Given the description of an element on the screen output the (x, y) to click on. 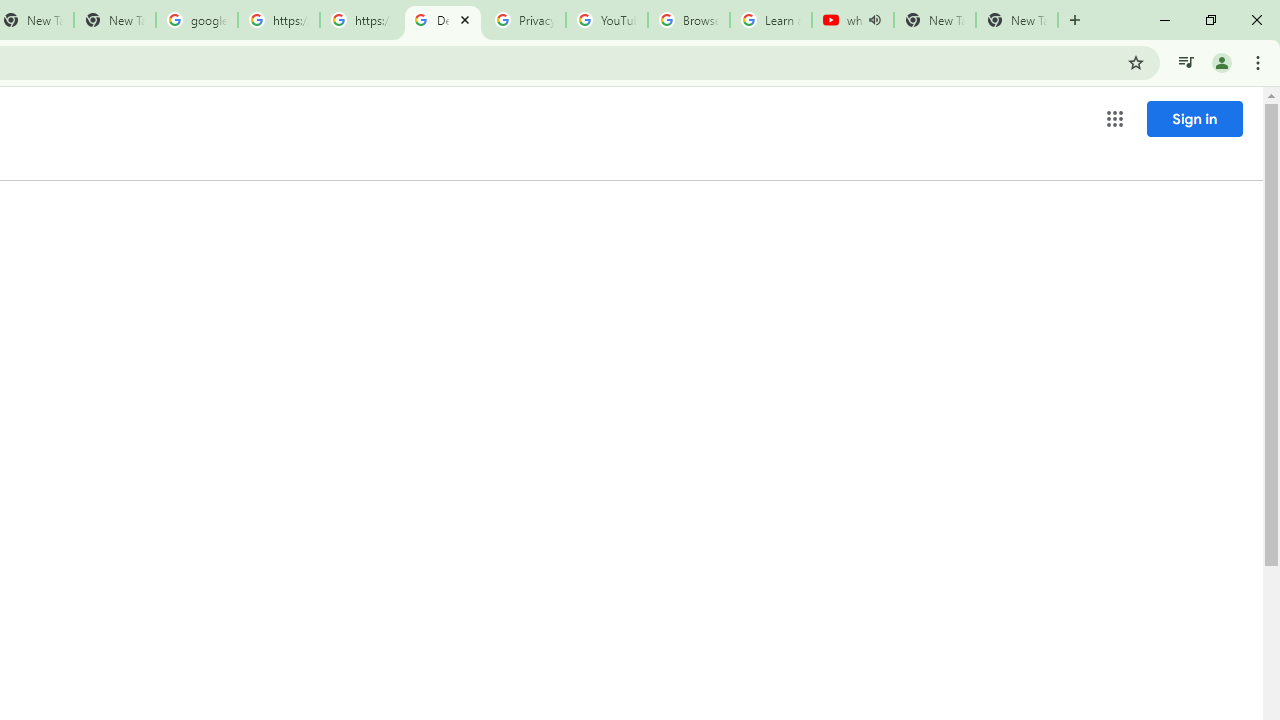
New Tab (1016, 20)
YouTube (606, 20)
Browse Chrome as a guest - Computer - Google Chrome Help (688, 20)
